Given the description of an element on the screen output the (x, y) to click on. 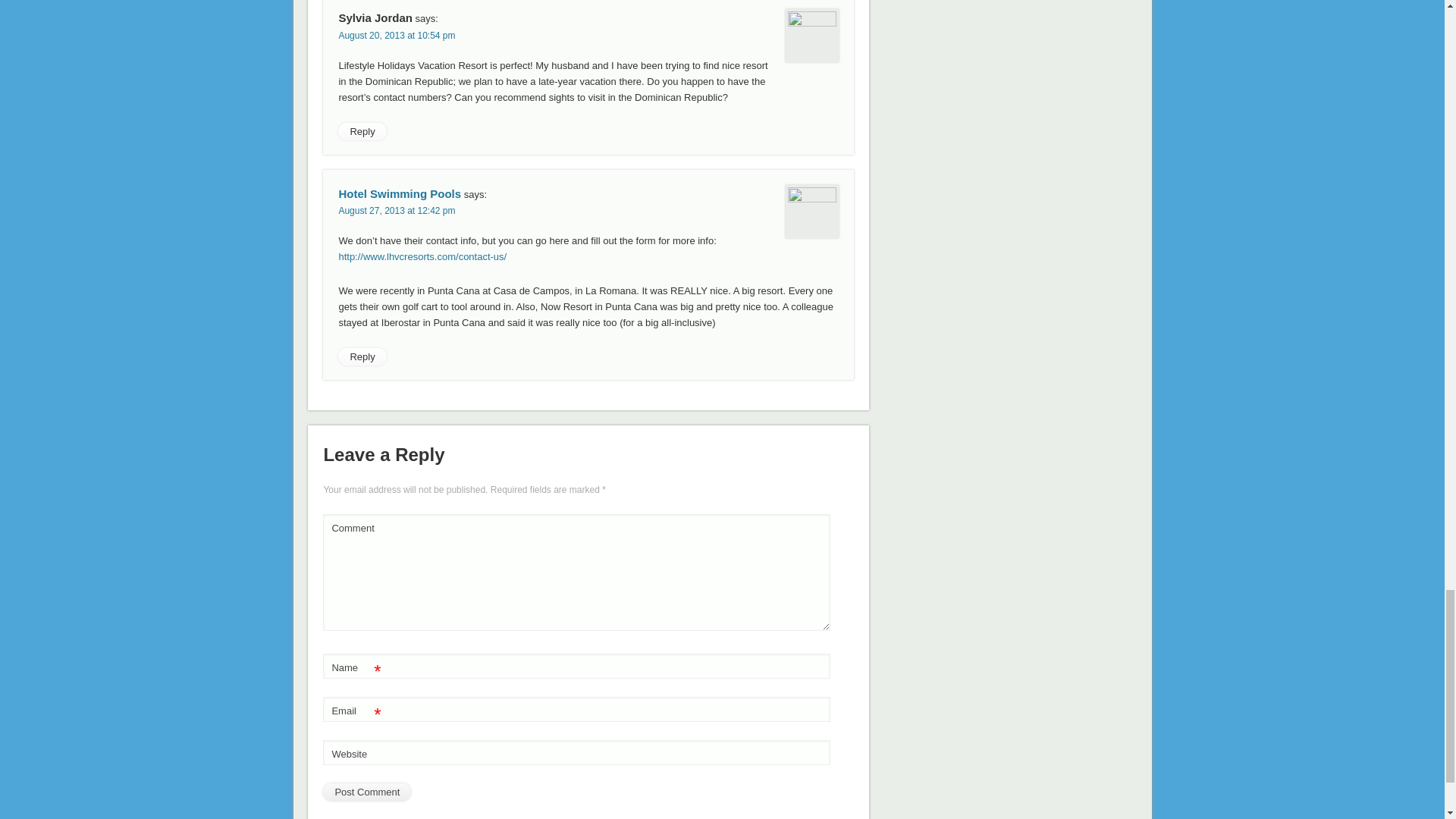
August 27, 2013 at 12:42 pm (395, 210)
August 20, 2013 at 10:54 pm (395, 35)
Post Comment (366, 791)
Reply (361, 356)
Post Comment (366, 791)
Reply (361, 131)
Hotel Swimming Pools (399, 193)
